Given the description of an element on the screen output the (x, y) to click on. 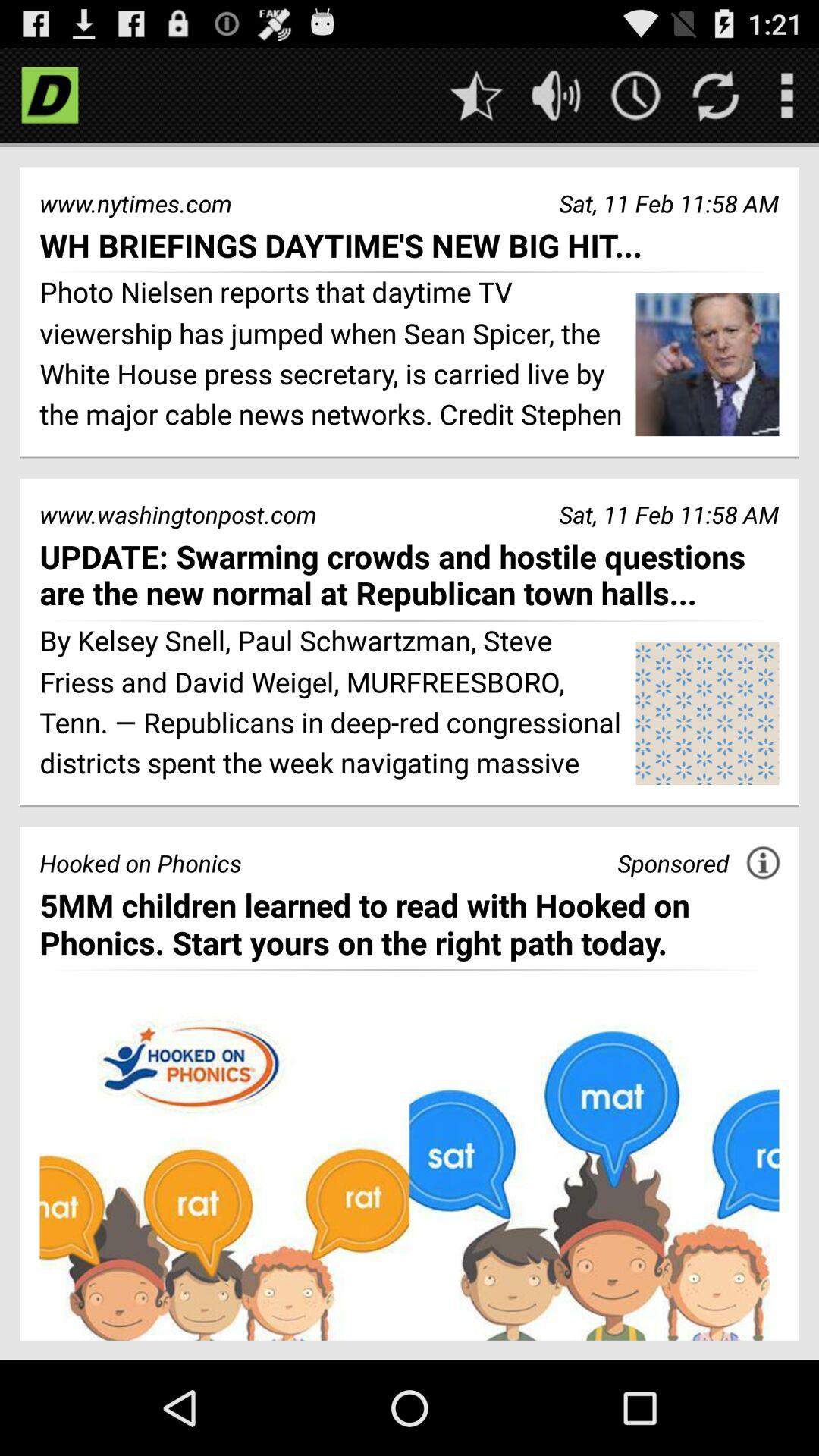
choose app above the 5mm children learned (763, 862)
